Given the description of an element on the screen output the (x, y) to click on. 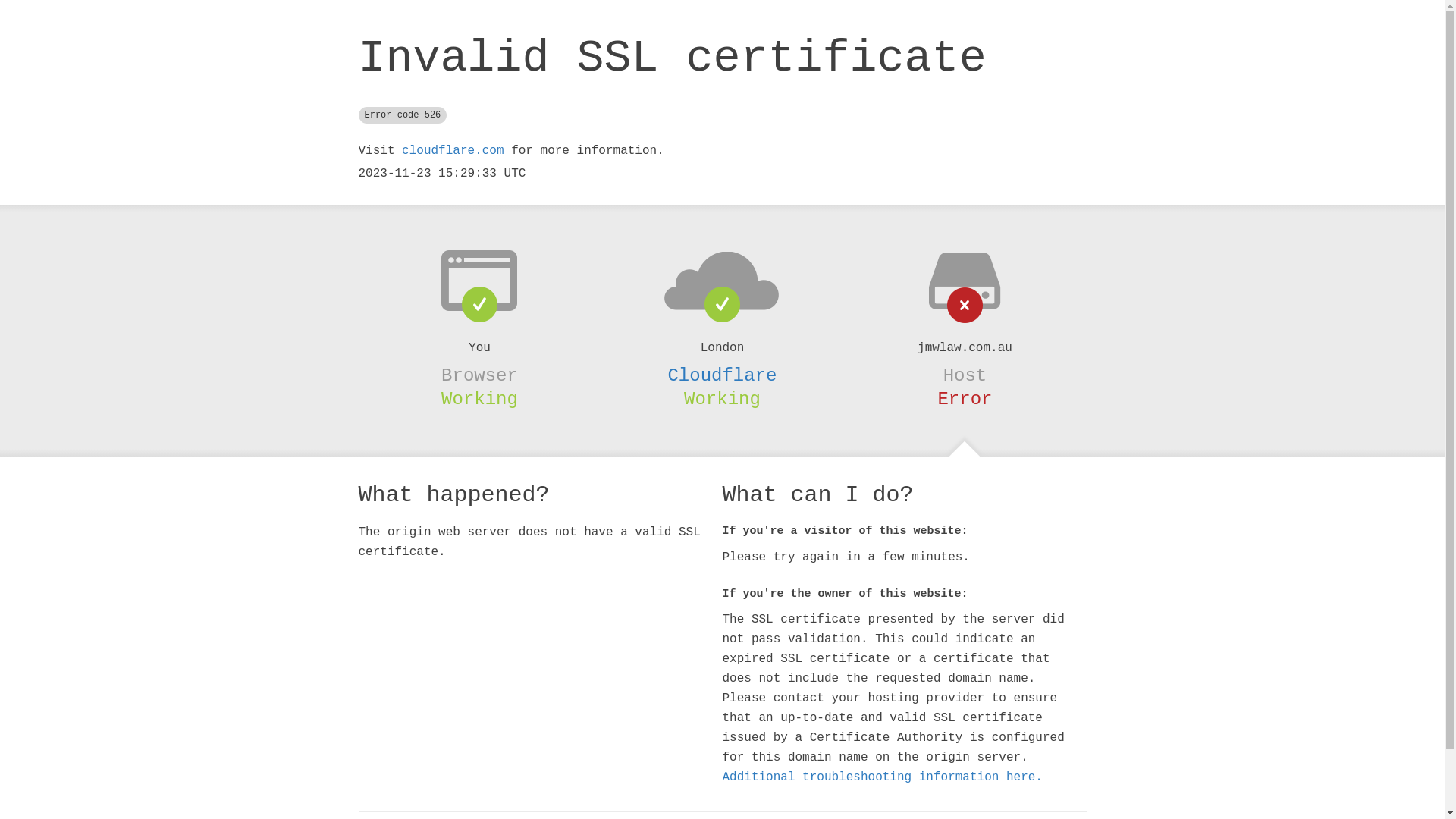
cloudflare.com Element type: text (452, 150)
Additional troubleshooting information here. Element type: text (881, 777)
Cloudflare Element type: text (721, 375)
